Given the description of an element on the screen output the (x, y) to click on. 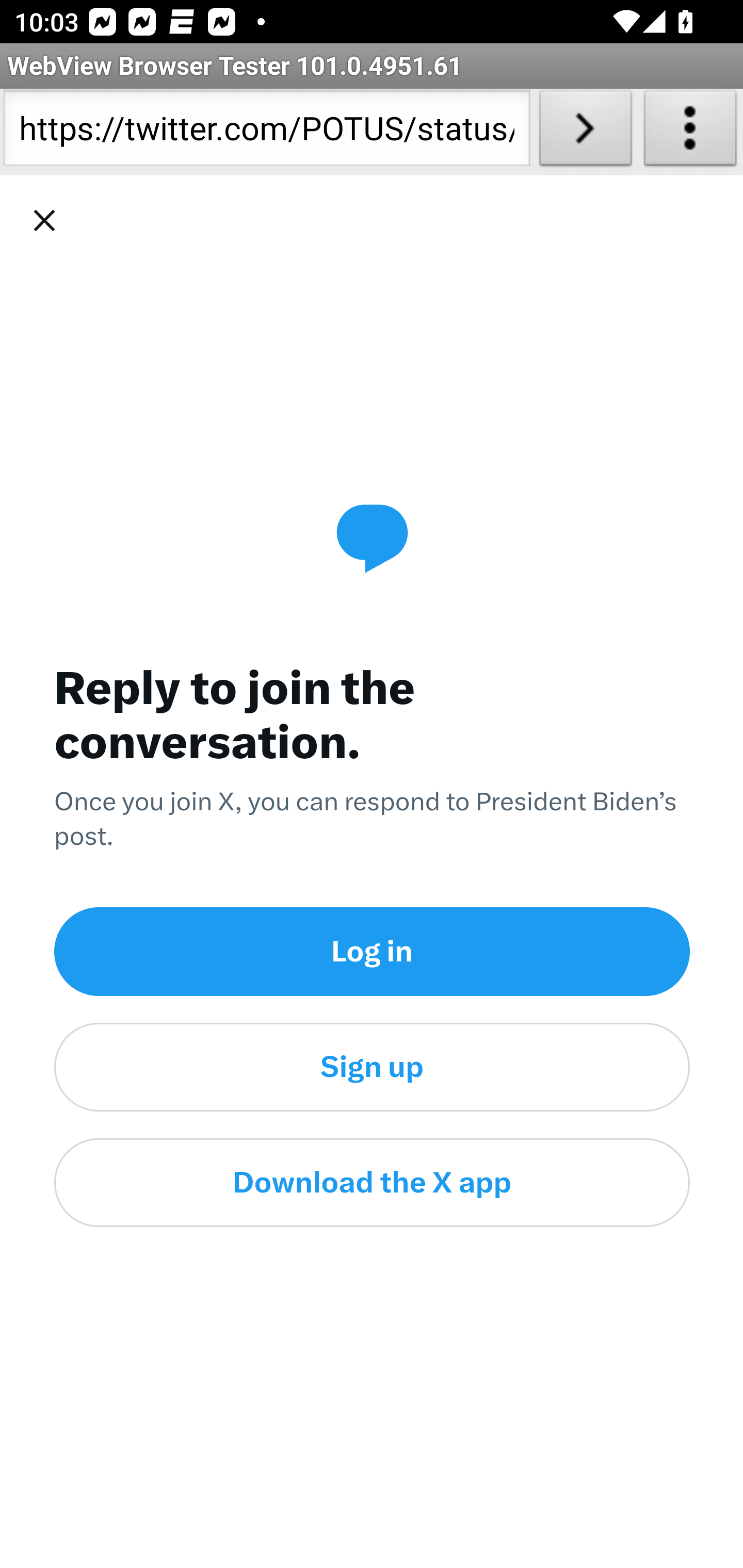
Load URL (585, 132)
About WebView (690, 132)
